Given the description of an element on the screen output the (x, y) to click on. 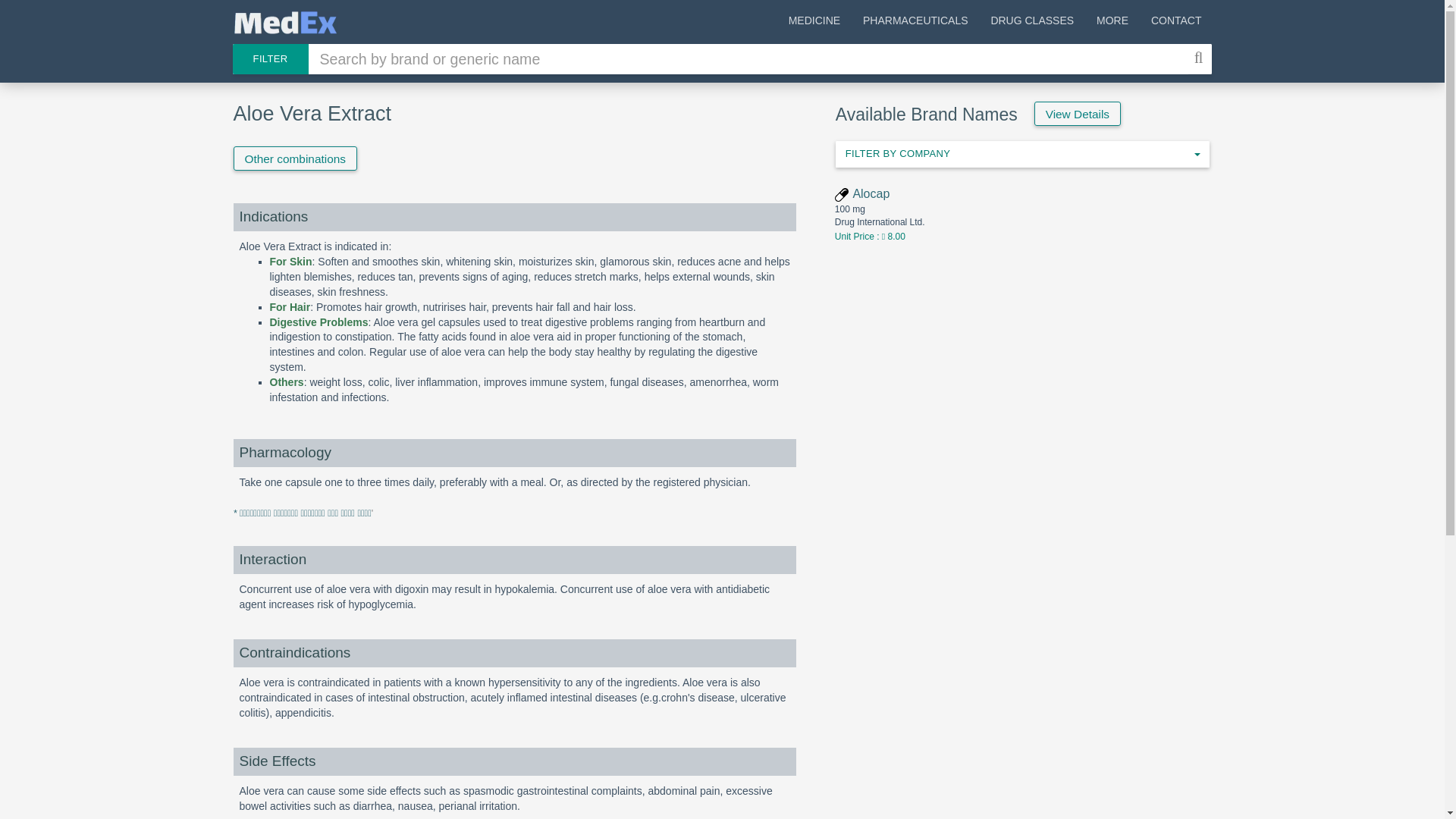
Other combinations (294, 158)
MORE (1112, 23)
Other combinations of Aloe (294, 158)
Capsule (841, 194)
MEDICINE (814, 23)
MedEx (284, 22)
PHARMACEUTICALS (914, 23)
Search (1199, 59)
CONTACT (1176, 23)
DRUG CLASSES (1031, 23)
FILTER (269, 59)
View all Brand Names of Aloe Vera Extract (1077, 113)
FILTER BY COMPANY (1022, 153)
View Details (1022, 153)
